Given the description of an element on the screen output the (x, y) to click on. 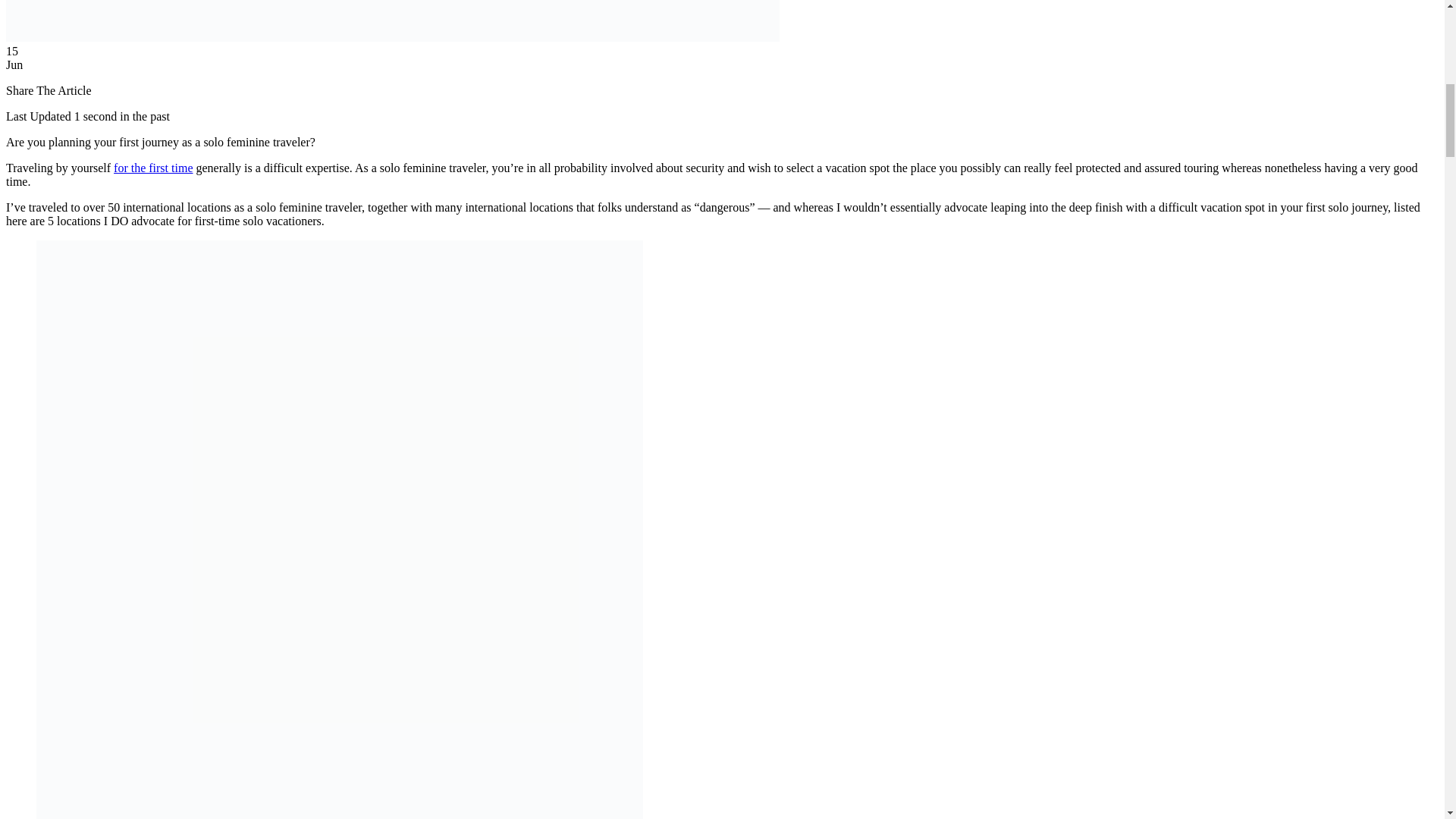
for the first time (152, 167)
